Given the description of an element on the screen output the (x, y) to click on. 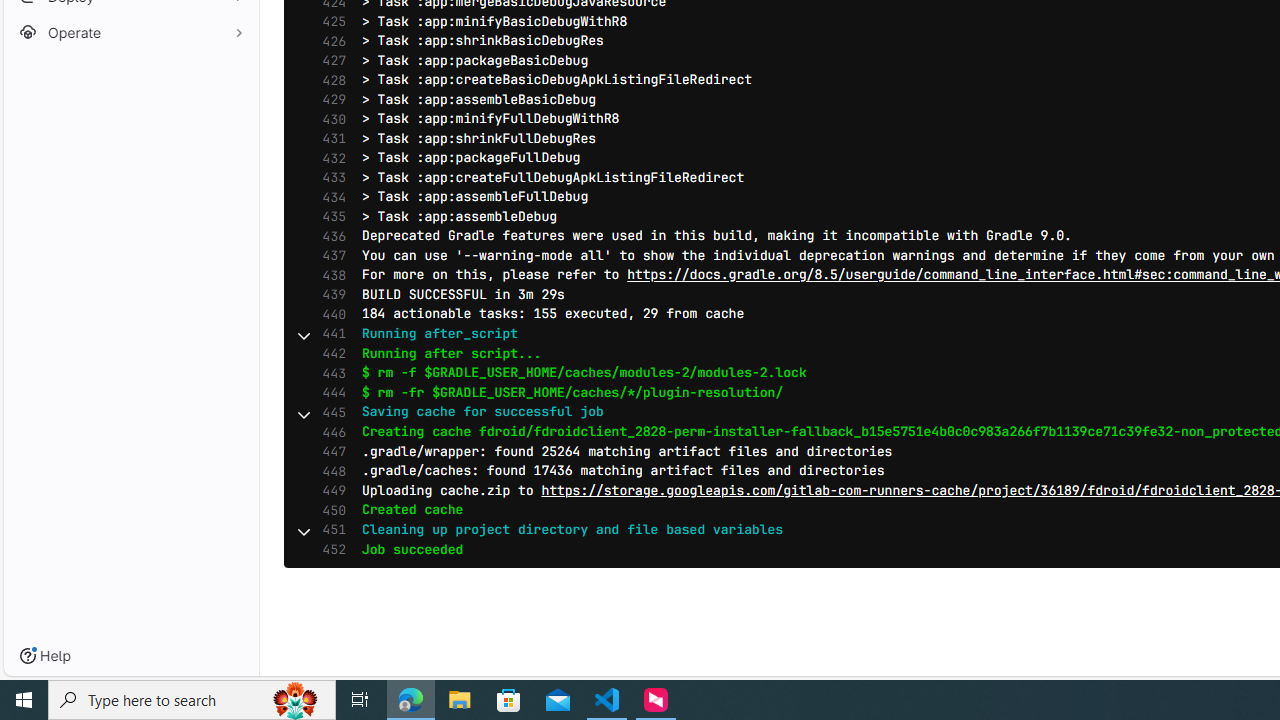
439 (329, 295)
451 (329, 529)
443 (329, 372)
430 (329, 119)
445 (329, 412)
433 (329, 177)
437 (329, 255)
441 (329, 334)
432 (329, 158)
448 (329, 470)
442 (329, 354)
427 (329, 61)
429 (329, 100)
452 (329, 550)
449 (329, 490)
